Given the description of an element on the screen output the (x, y) to click on. 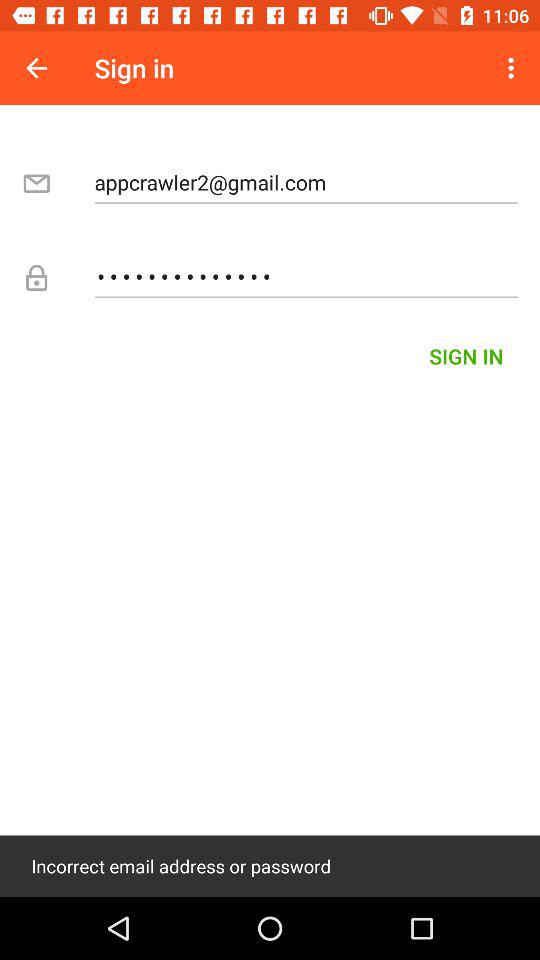
press the appcrawler2@gmail.com item (306, 181)
